Given the description of an element on the screen output the (x, y) to click on. 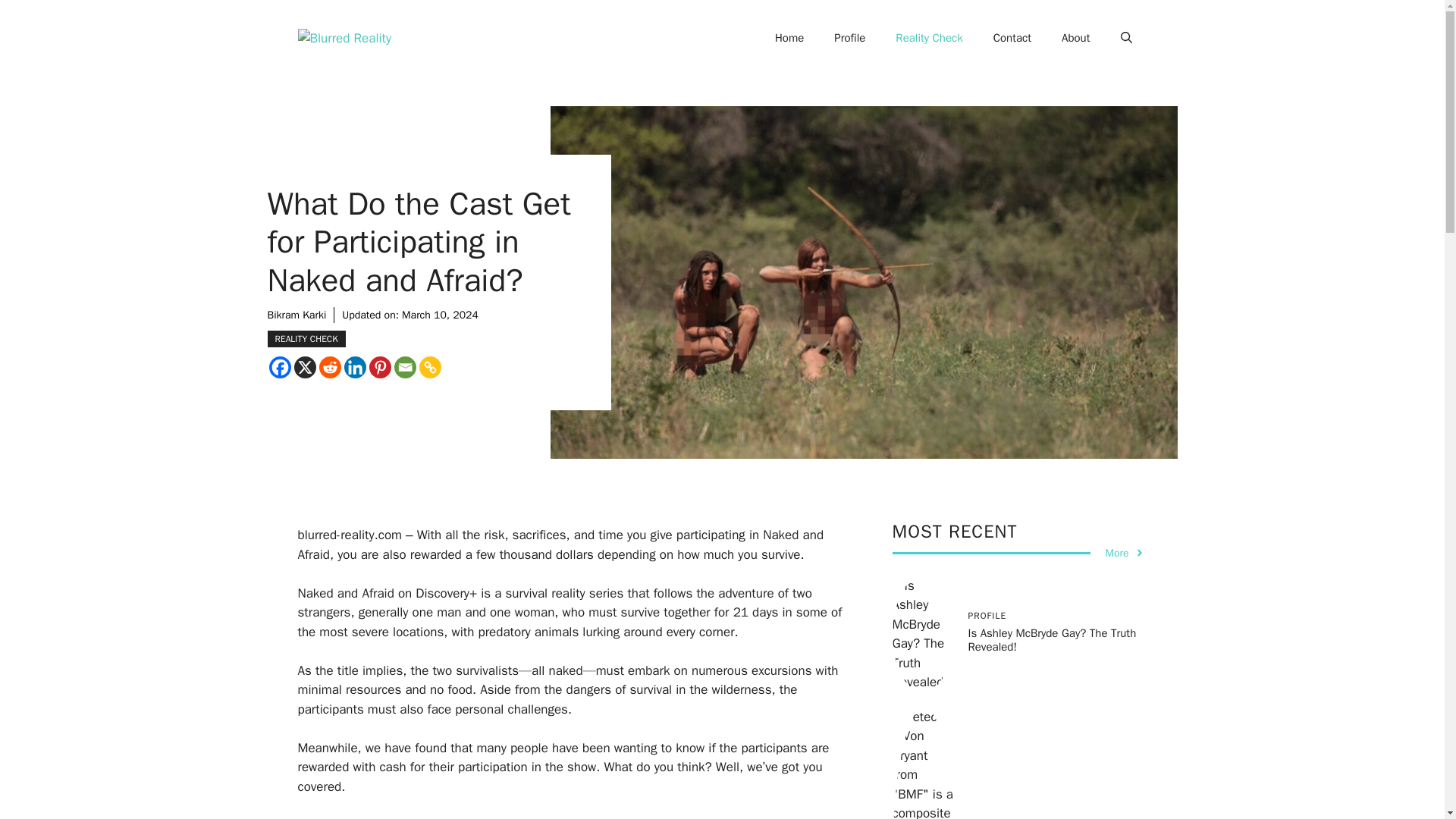
Bikram Karki (296, 314)
REALITY CHECK (305, 338)
Reality Check (928, 37)
Profile (849, 37)
Facebook (278, 367)
Linkedin (354, 367)
Copy Link (430, 367)
Contact (1012, 37)
X (304, 367)
About (1075, 37)
